Given the description of an element on the screen output the (x, y) to click on. 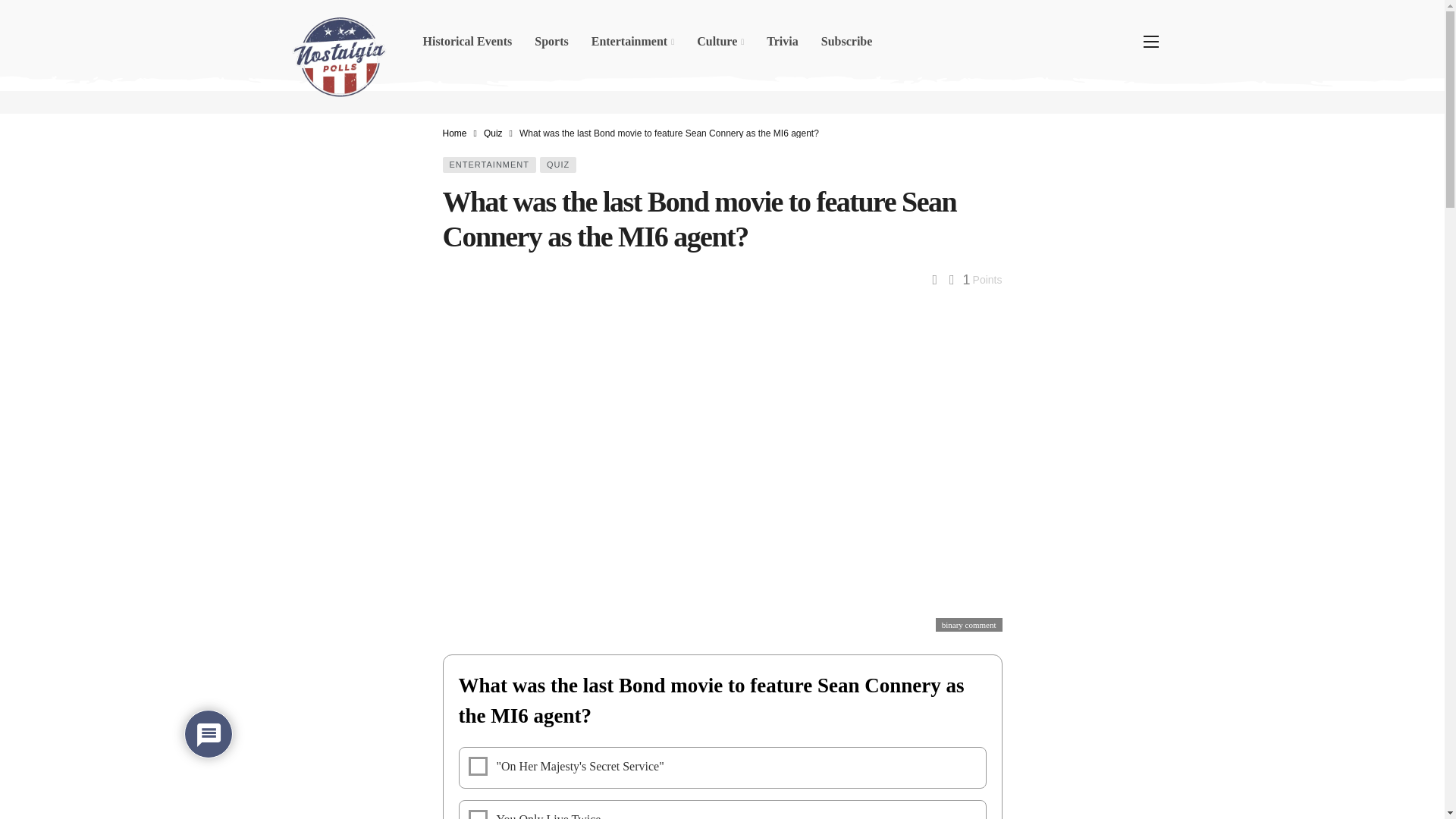
Home (454, 133)
Historical Events (466, 41)
Culture (720, 41)
on (477, 765)
on (477, 814)
Quiz (492, 133)
Sports (550, 41)
Subscribe (846, 41)
QUIZ (558, 164)
ENTERTAINMENT (489, 164)
